Given the description of an element on the screen output the (x, y) to click on. 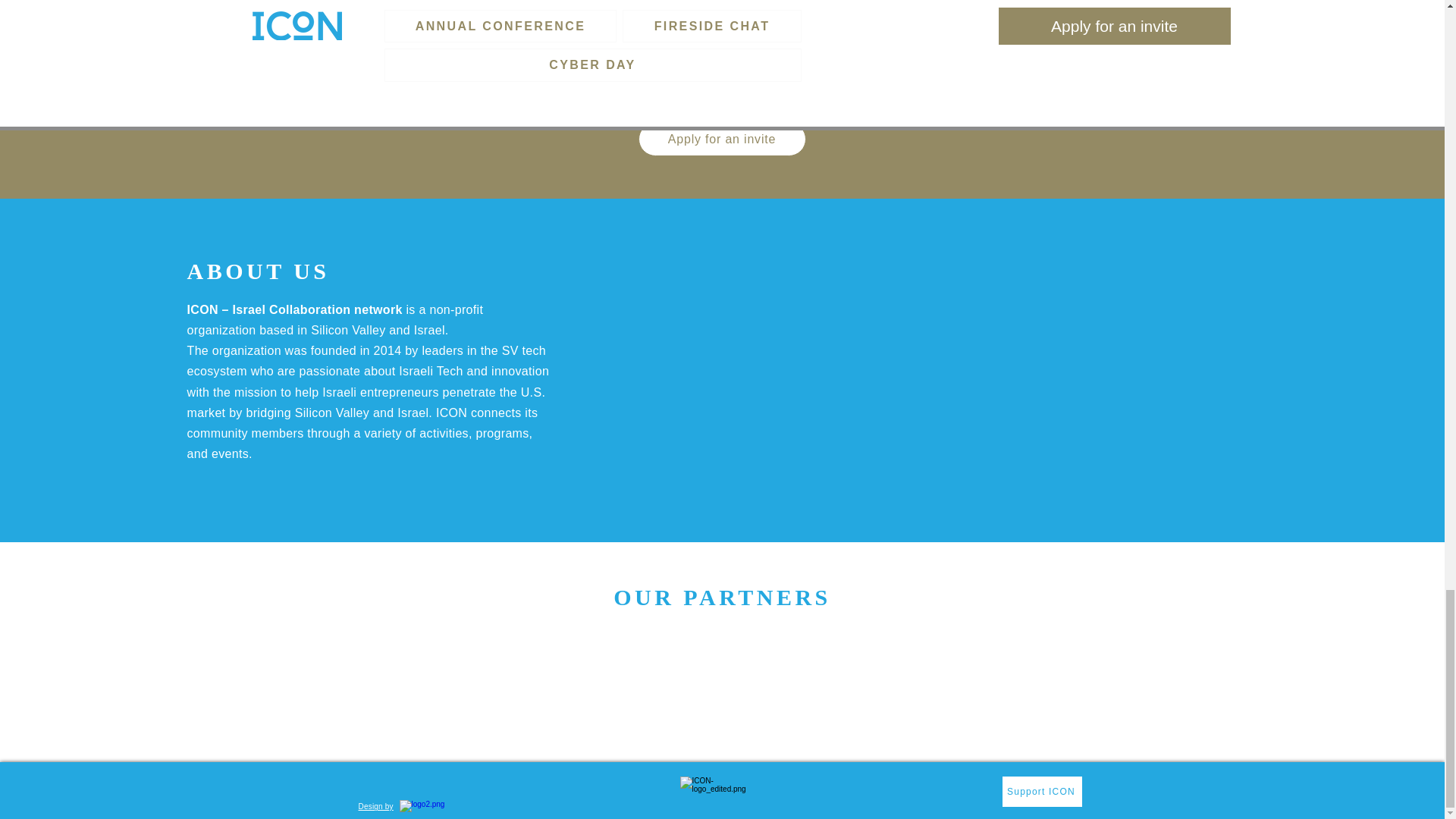
Apply for an invite (722, 139)
Design by (375, 806)
Support ICON (1042, 791)
